Given the description of an element on the screen output the (x, y) to click on. 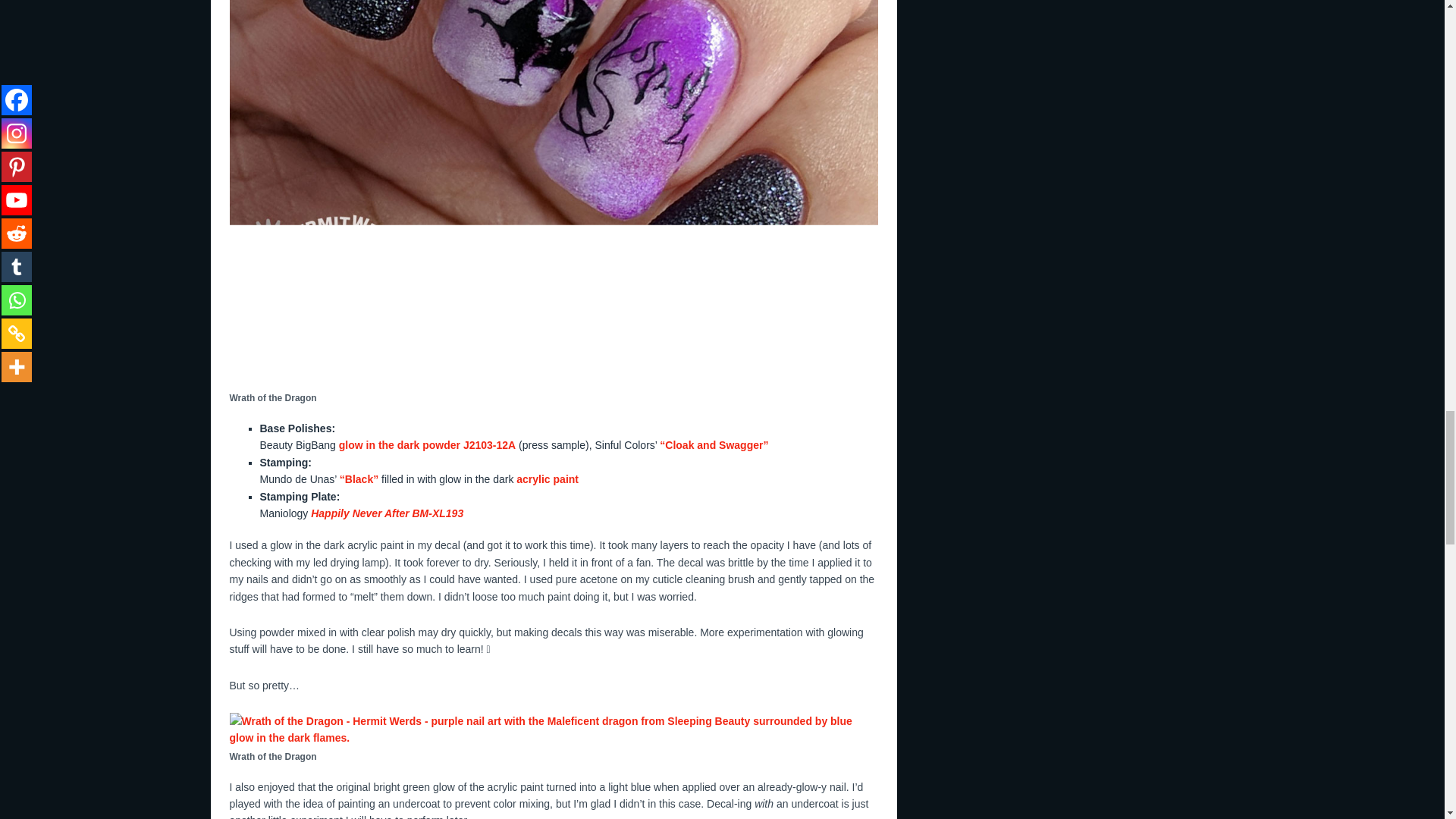
J2103-12A (489, 444)
Happily Never After BM-XL193 (387, 512)
glow in the dark powder (399, 444)
acrylic paint (547, 479)
